Given the description of an element on the screen output the (x, y) to click on. 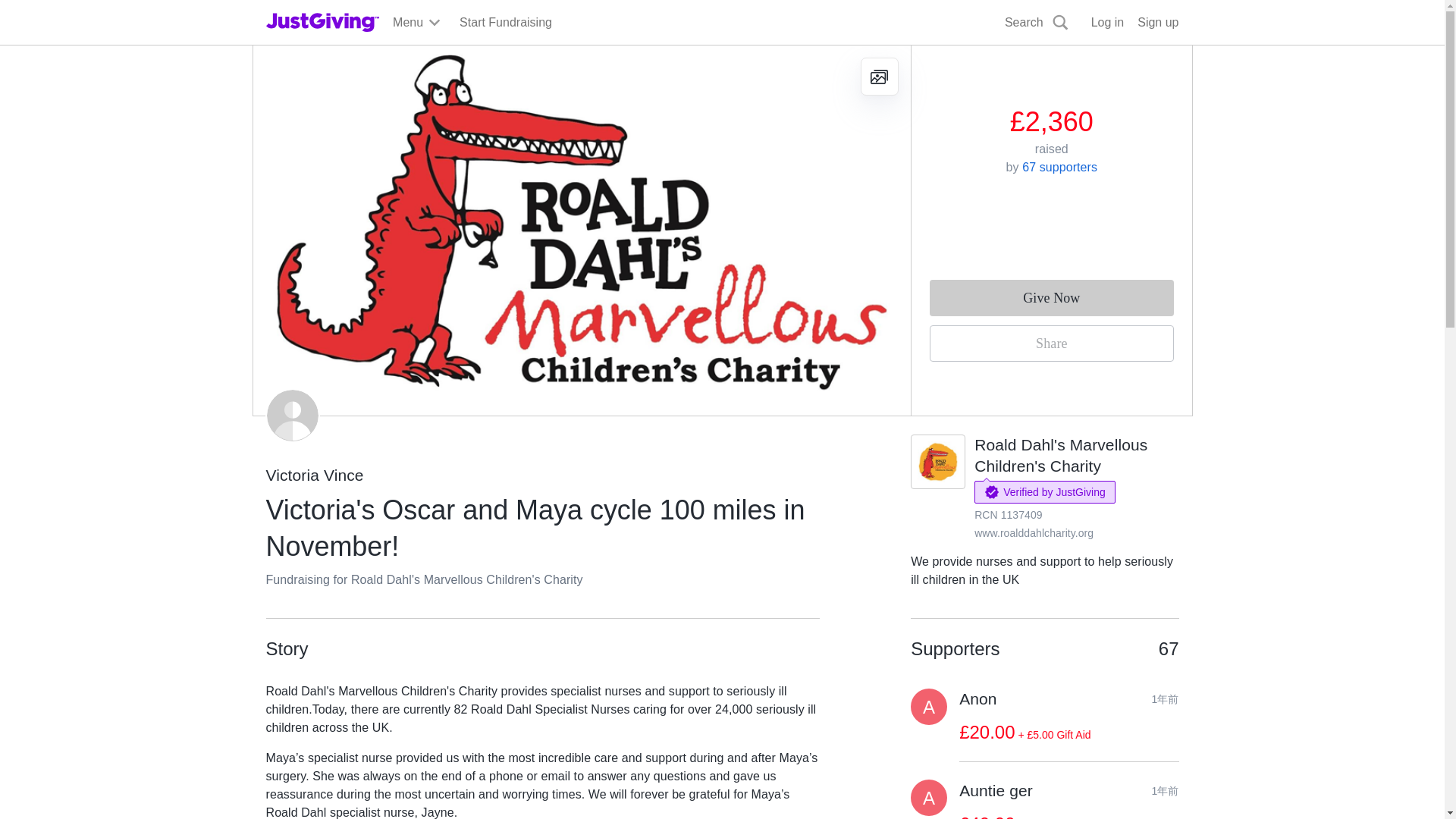
www.roalddahlcharity.org (1033, 532)
A (929, 797)
Start Fundraising (505, 22)
67 supporters (1059, 166)
Search (919, 57)
Sign up (1157, 22)
Menu (416, 22)
A (929, 706)
Search (1036, 22)
Log in (1107, 22)
Share (1051, 343)
Roald Dahl's Marvellous Children's Charity (1060, 455)
